Given the description of an element on the screen output the (x, y) to click on. 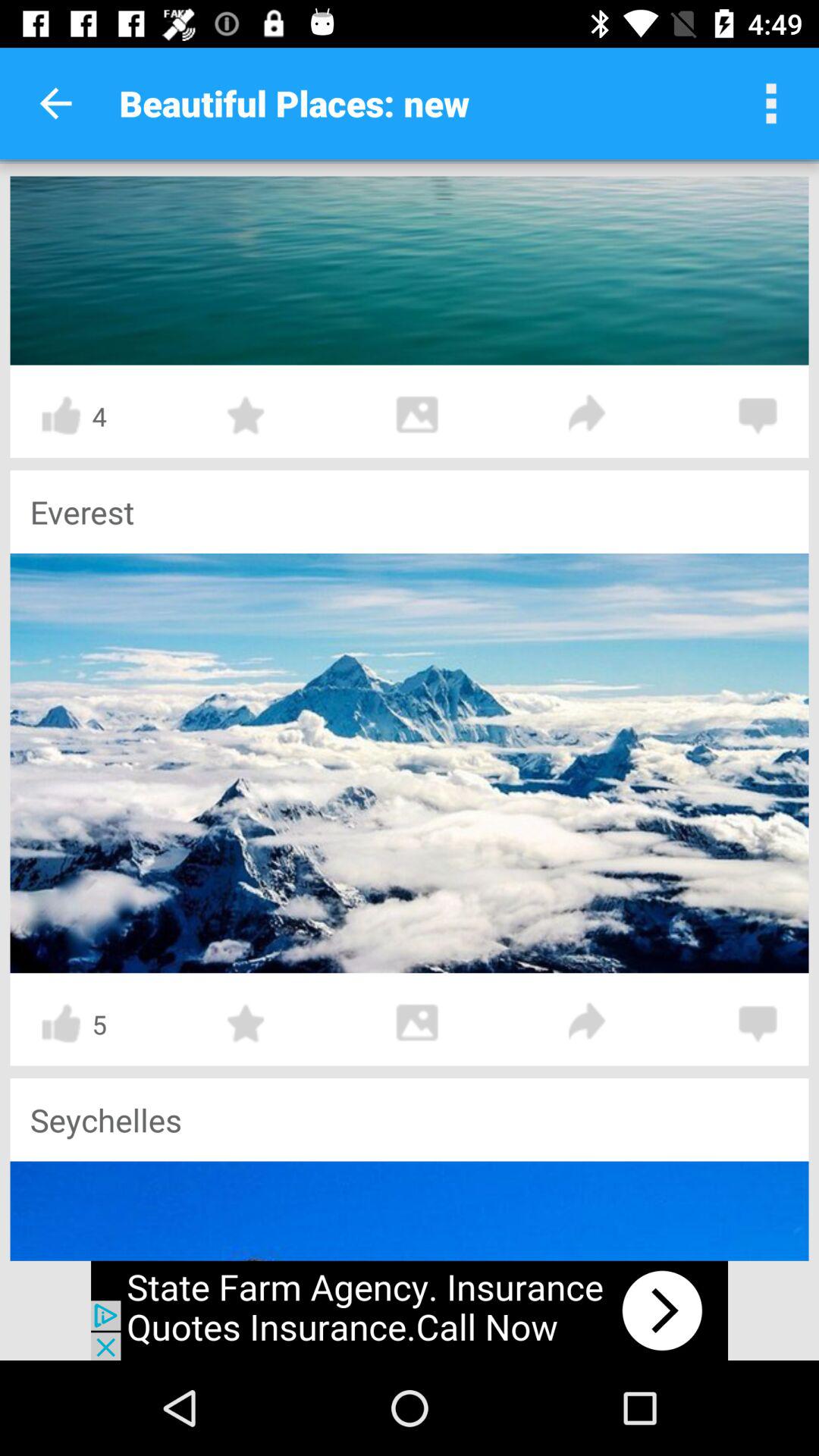
forward the image (587, 415)
